Given the description of an element on the screen output the (x, y) to click on. 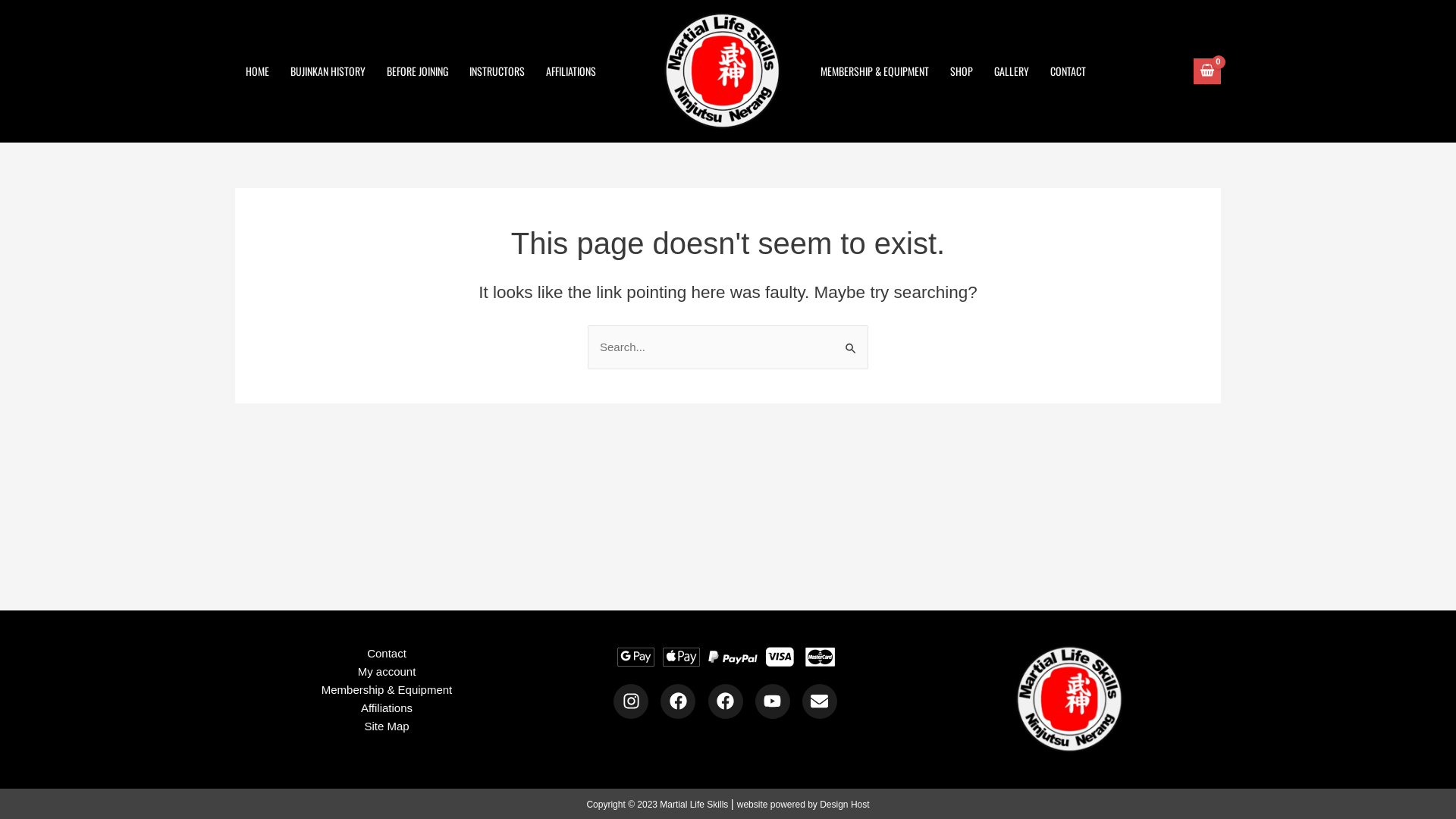
CONTACT Element type: text (1066, 70)
Affiliations Element type: text (386, 708)
HOME Element type: text (257, 70)
Contact Element type: text (386, 653)
BEFORE JOINING Element type: text (417, 70)
Site Map Element type: text (386, 726)
BUJINKAN HISTORY Element type: text (327, 70)
GALLERY Element type: text (1010, 70)
AFFILIATIONS Element type: text (570, 70)
Design Host Element type: text (844, 804)
MEMBERSHIP & EQUIPMENT Element type: text (874, 70)
Membership & Equipment Element type: text (386, 689)
SHOP Element type: text (960, 70)
My account Element type: text (386, 671)
Search Element type: text (851, 339)
INSTRUCTORS Element type: text (496, 70)
